Given the description of an element on the screen output the (x, y) to click on. 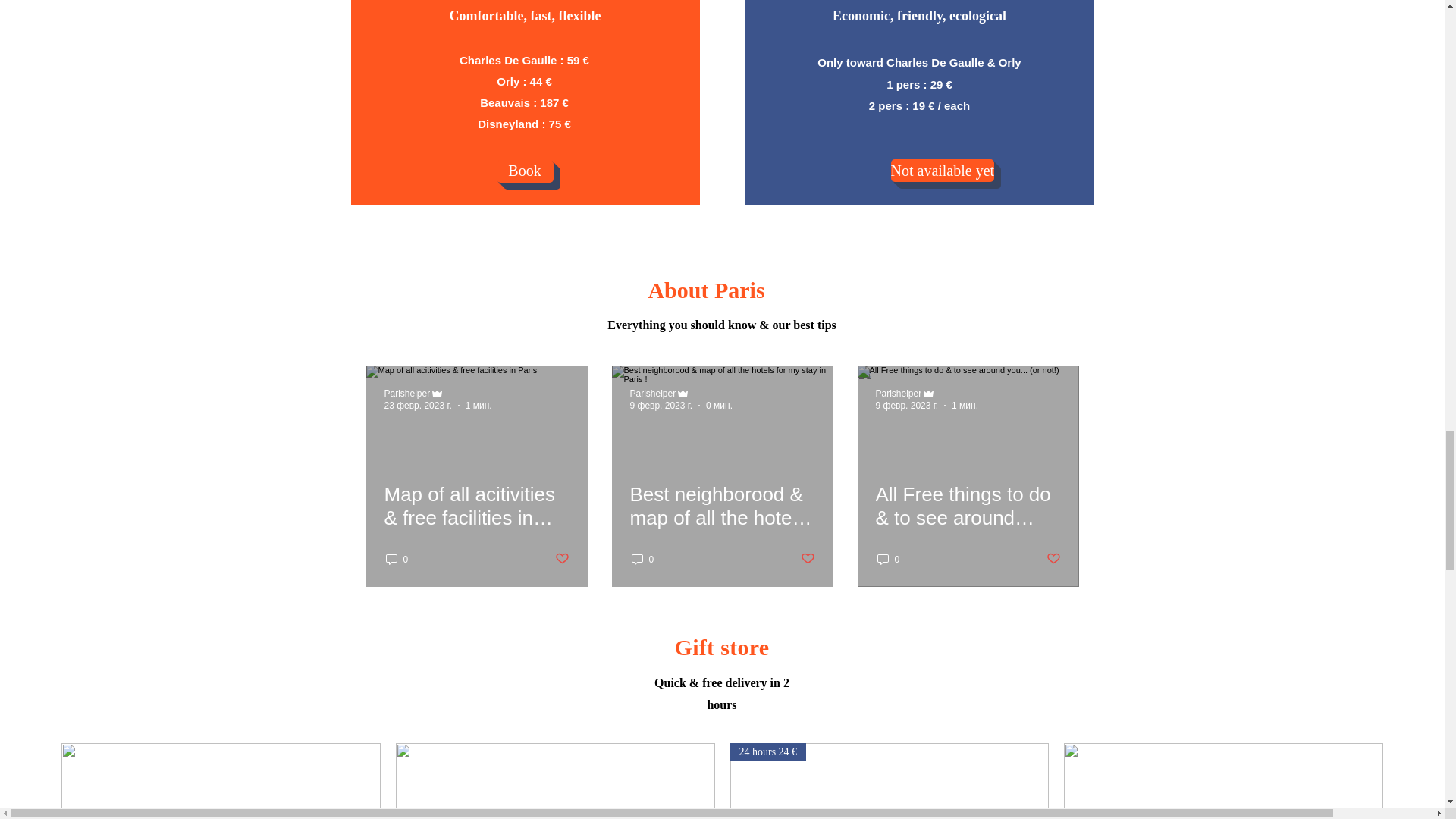
Parishelper (406, 393)
Parishelper (898, 393)
Parishelper (651, 393)
